Given the description of an element on the screen output the (x, y) to click on. 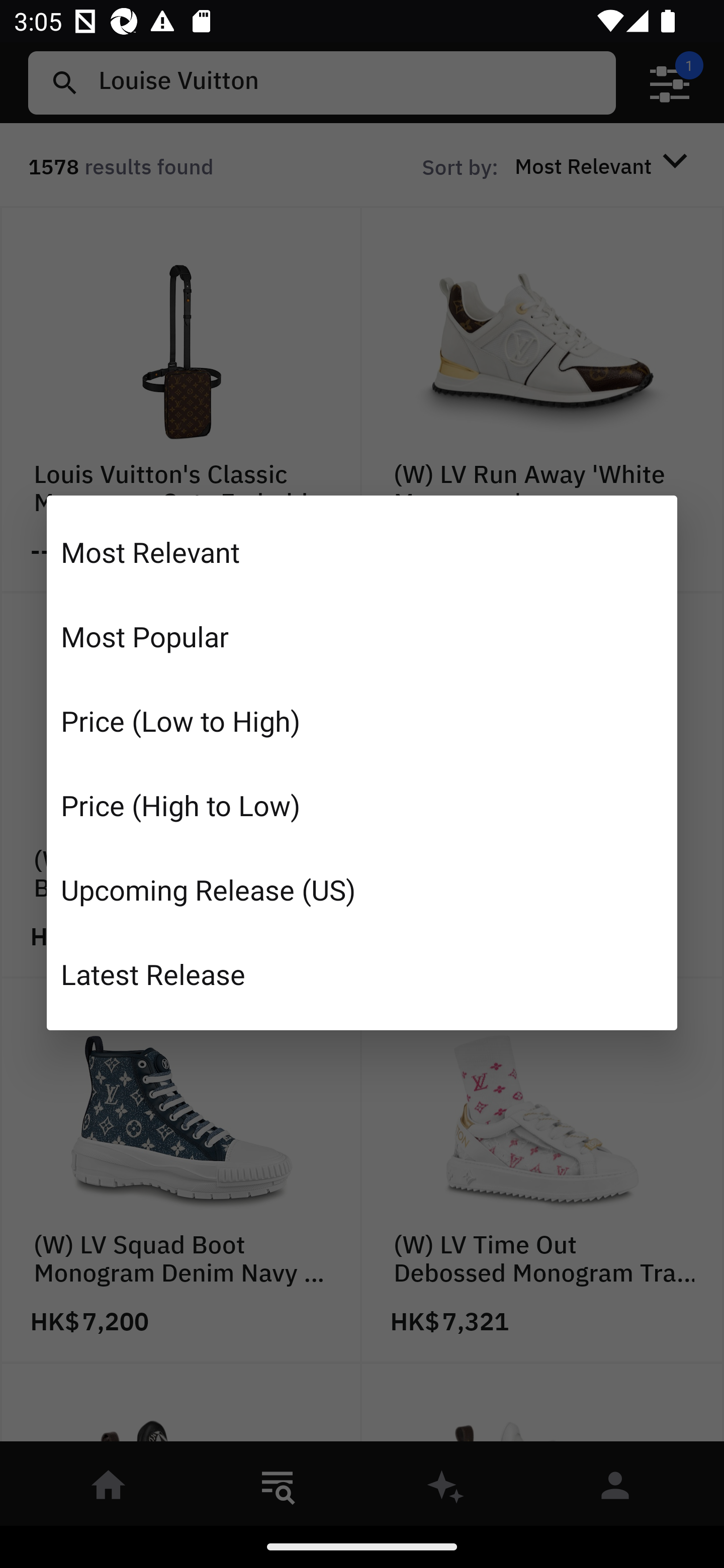
Most Relevant (361, 551)
Most Popular (361, 636)
Price (Low to High) (361, 720)
Price (High to Low) (361, 804)
Upcoming Release (US) (361, 888)
Latest Release (361, 973)
